Given the description of an element on the screen output the (x, y) to click on. 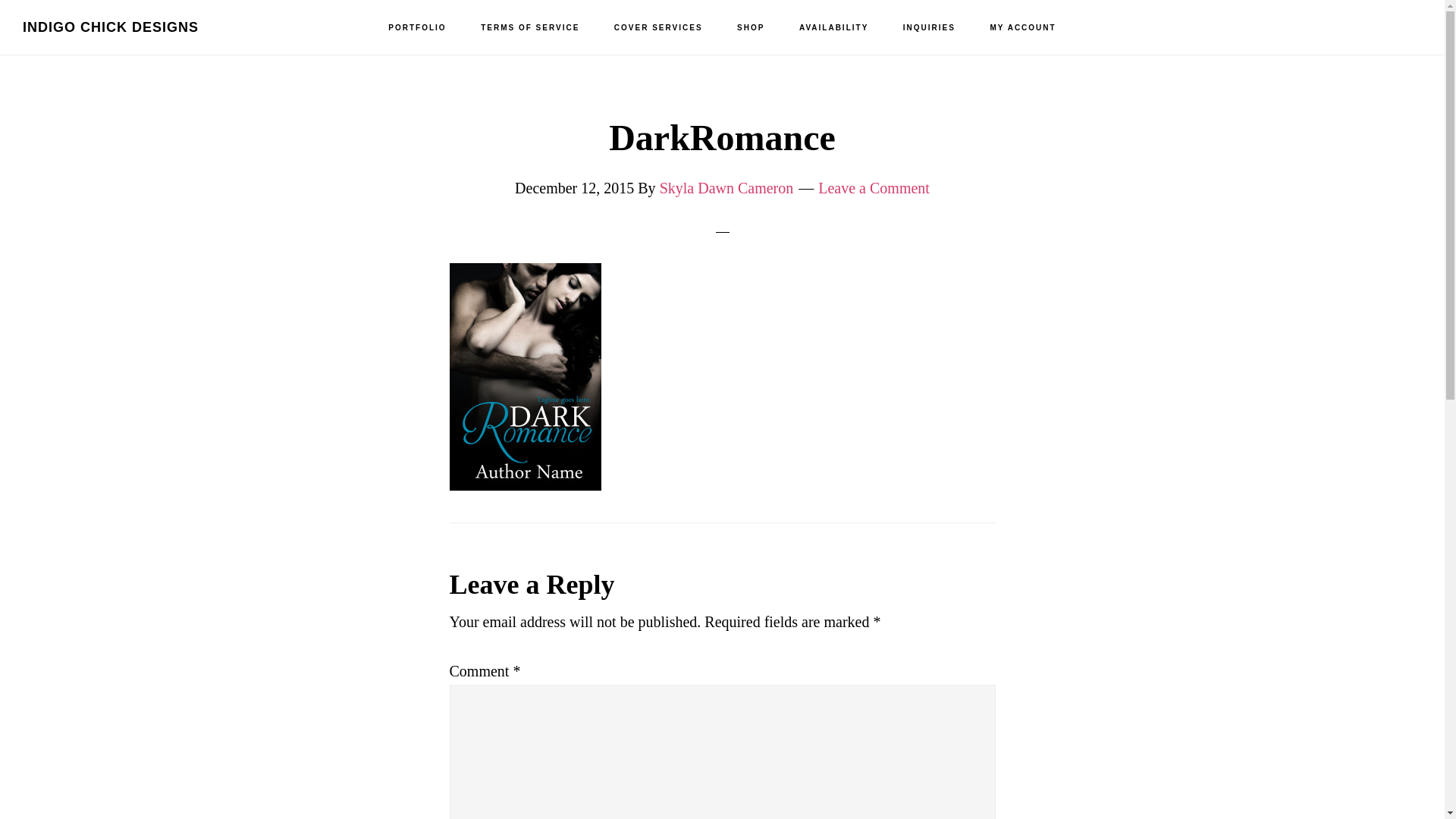
COVER SERVICES (657, 27)
AVAILABILITY (833, 27)
Leave a Comment (874, 187)
PORTFOLIO (416, 27)
Skyla Dawn Cameron (726, 187)
INQUIRIES (929, 27)
INDIGO CHICK DESIGNS (110, 27)
SHOP (750, 27)
TERMS OF SERVICE (529, 27)
MY ACCOUNT (1022, 27)
